Given the description of an element on the screen output the (x, y) to click on. 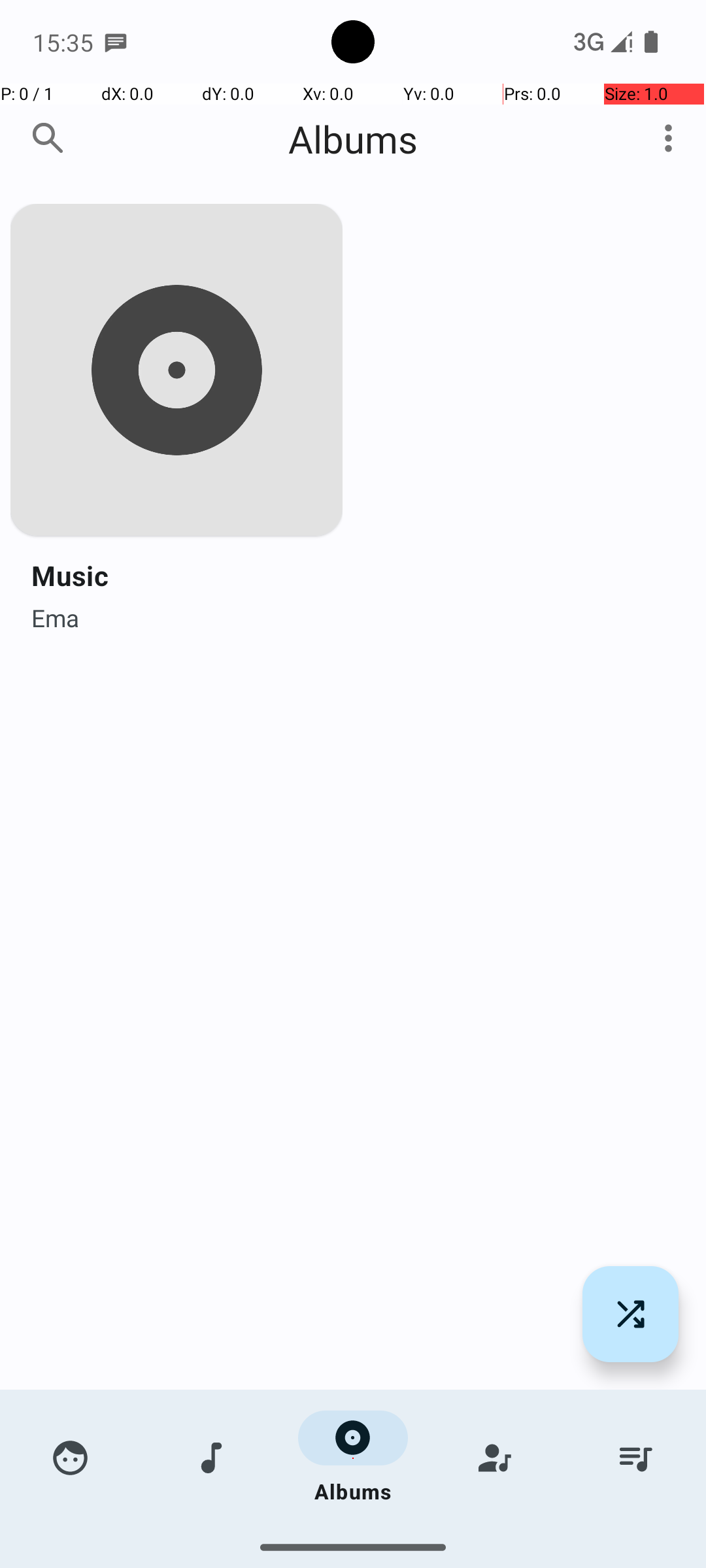
Music Element type: android.widget.TextView (69, 574)
Ema Element type: android.widget.TextView (55, 613)
